Given the description of an element on the screen output the (x, y) to click on. 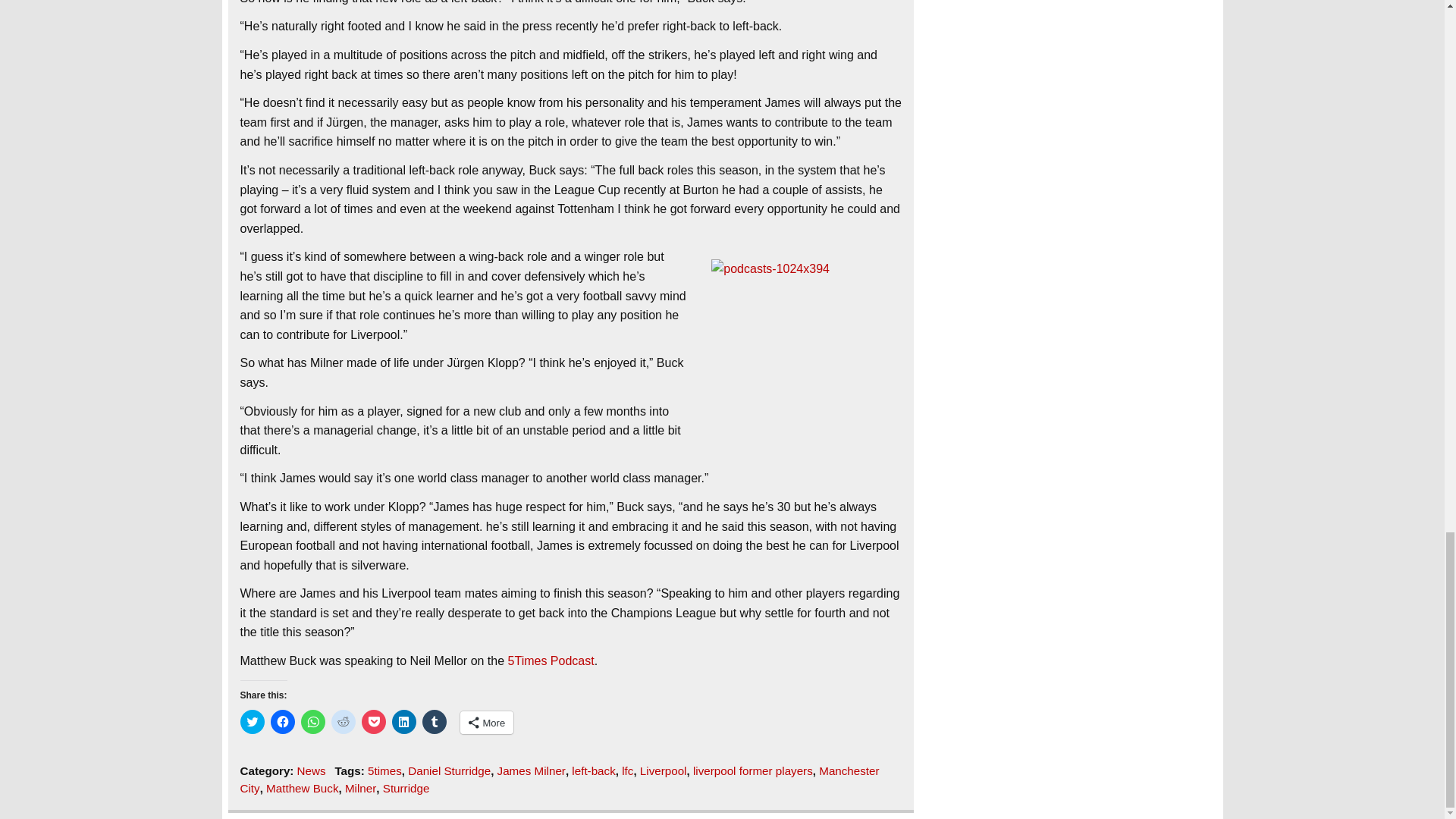
Daniel Sturridge (448, 770)
Click to share on LinkedIn (402, 721)
News (311, 770)
Click to share on WhatsApp (311, 721)
Click to share on Facebook (281, 721)
left-back (593, 770)
Click to share on Twitter (251, 721)
liverpool former players (752, 770)
5times (384, 770)
James Milner (531, 770)
